Given the description of an element on the screen output the (x, y) to click on. 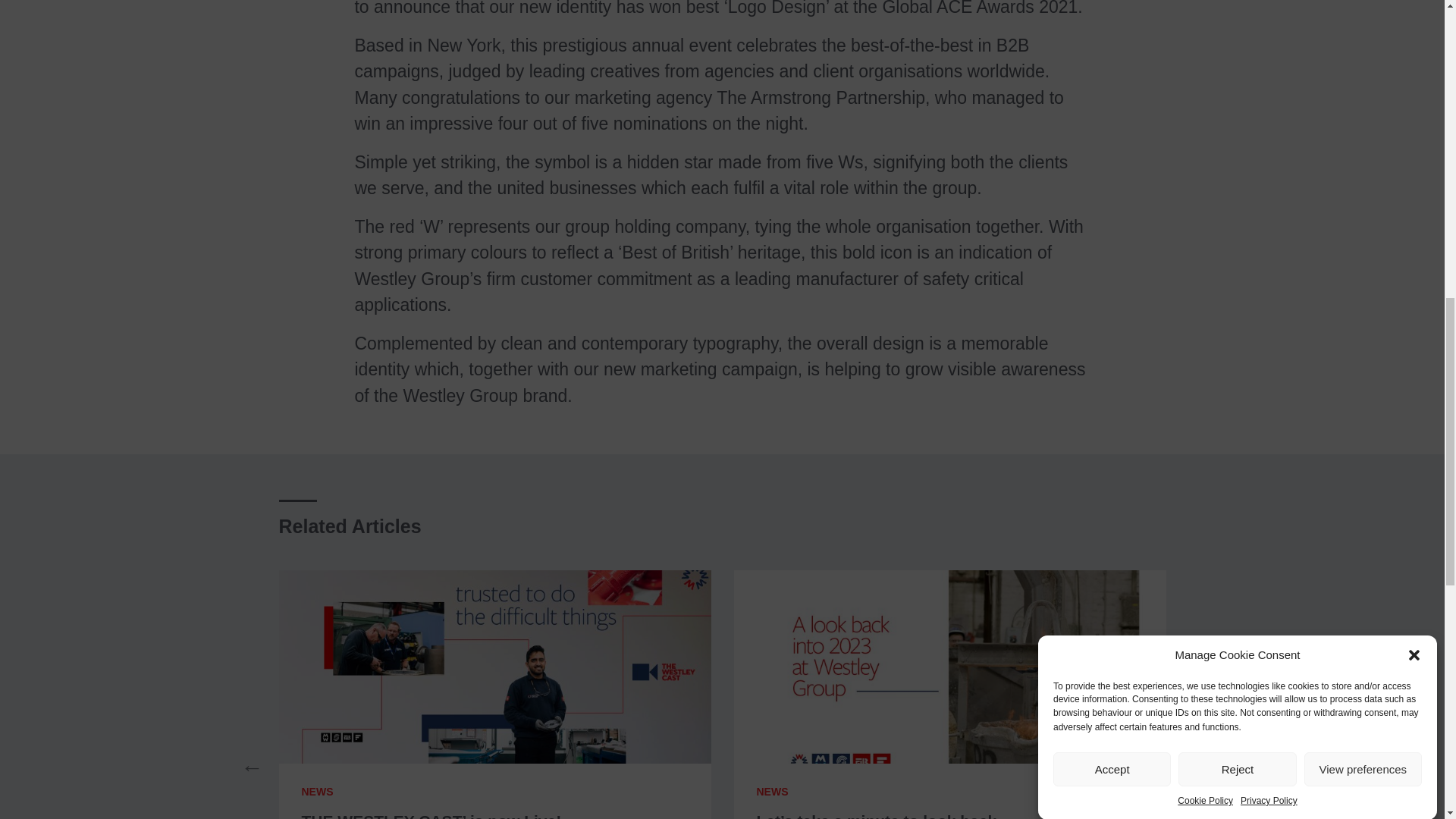
Reject (1236, 192)
Cookie Policy (1205, 132)
Privacy Policy (1268, 121)
View preferences (1363, 163)
Accept (1111, 223)
